Given the description of an element on the screen output the (x, y) to click on. 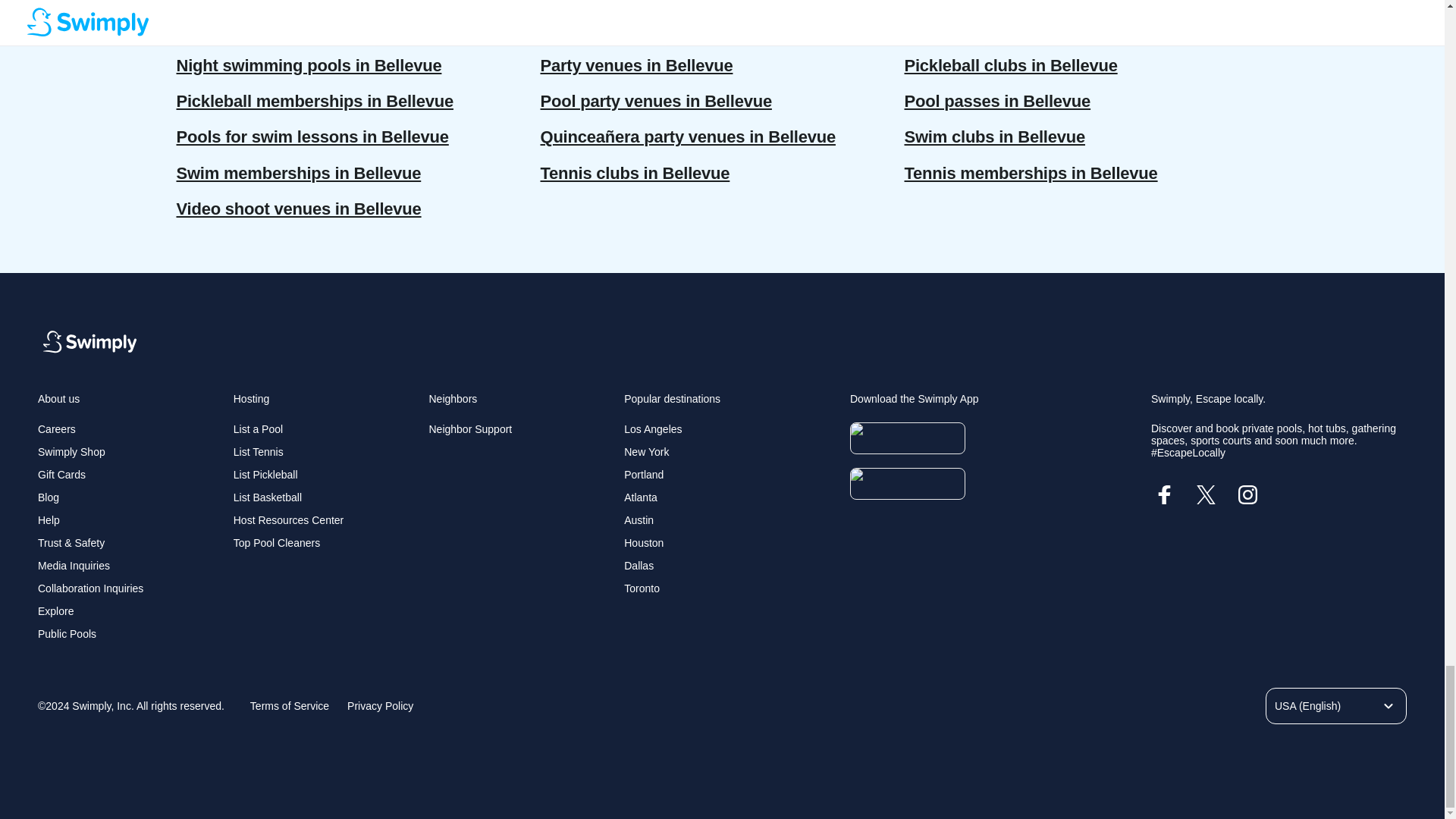
Public Pools (66, 633)
Host Resources Center (287, 520)
List Tennis (257, 451)
Neighbor Support (470, 428)
List Basketball (266, 497)
List Pickleball (265, 474)
Gift Cards (61, 474)
Explore (55, 611)
Los Angeles (652, 428)
Swimply Shop (70, 451)
Blog (48, 497)
New York (646, 451)
Media Inquiries (73, 565)
Help (48, 520)
List a Pool (257, 428)
